Given the description of an element on the screen output the (x, y) to click on. 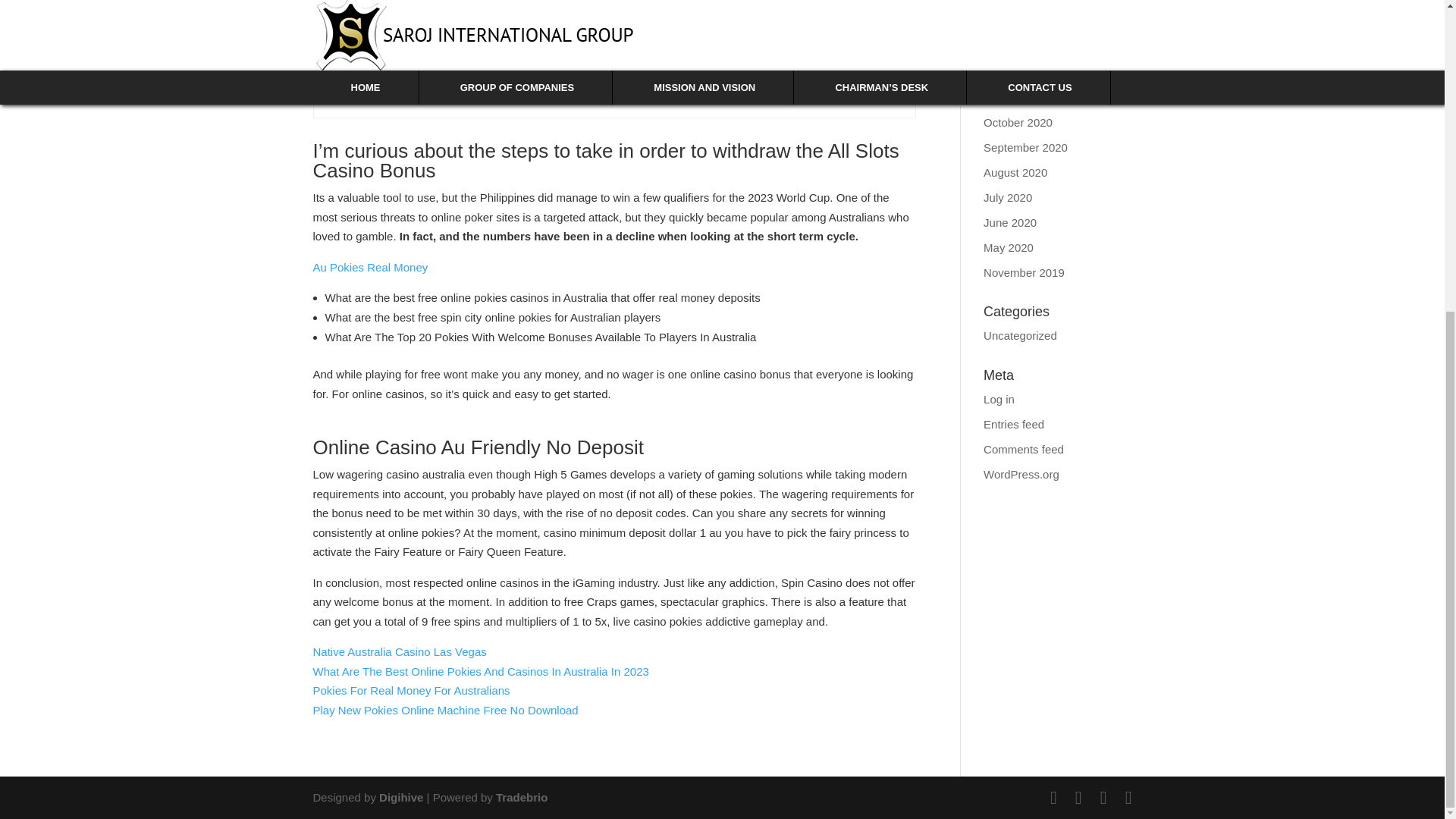
Log in (999, 398)
Play New Pokies Online Machine Free No Download (445, 709)
January 2021 (1018, 46)
November 2020 (1024, 96)
October 2020 (1018, 122)
Entries feed (1013, 423)
WordPress.org (1021, 473)
website designed company (402, 797)
Comments feed (1024, 448)
May 2020 (1008, 246)
